Given the description of an element on the screen output the (x, y) to click on. 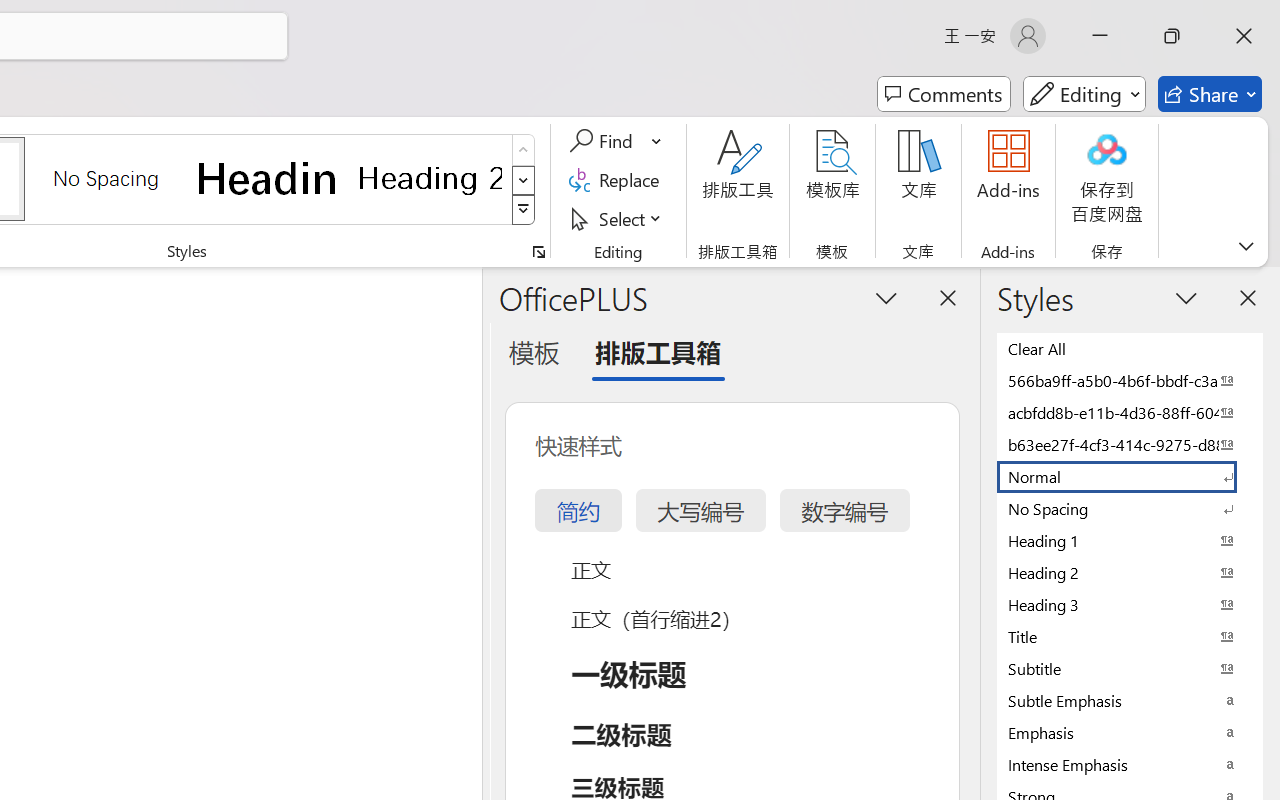
Styles (523, 209)
b63ee27f-4cf3-414c-9275-d88e3f90795e (1130, 444)
Class: NetUIImage (523, 210)
No Spacing (1130, 508)
Subtle Emphasis (1130, 700)
Row up (523, 150)
